Given the description of an element on the screen output the (x, y) to click on. 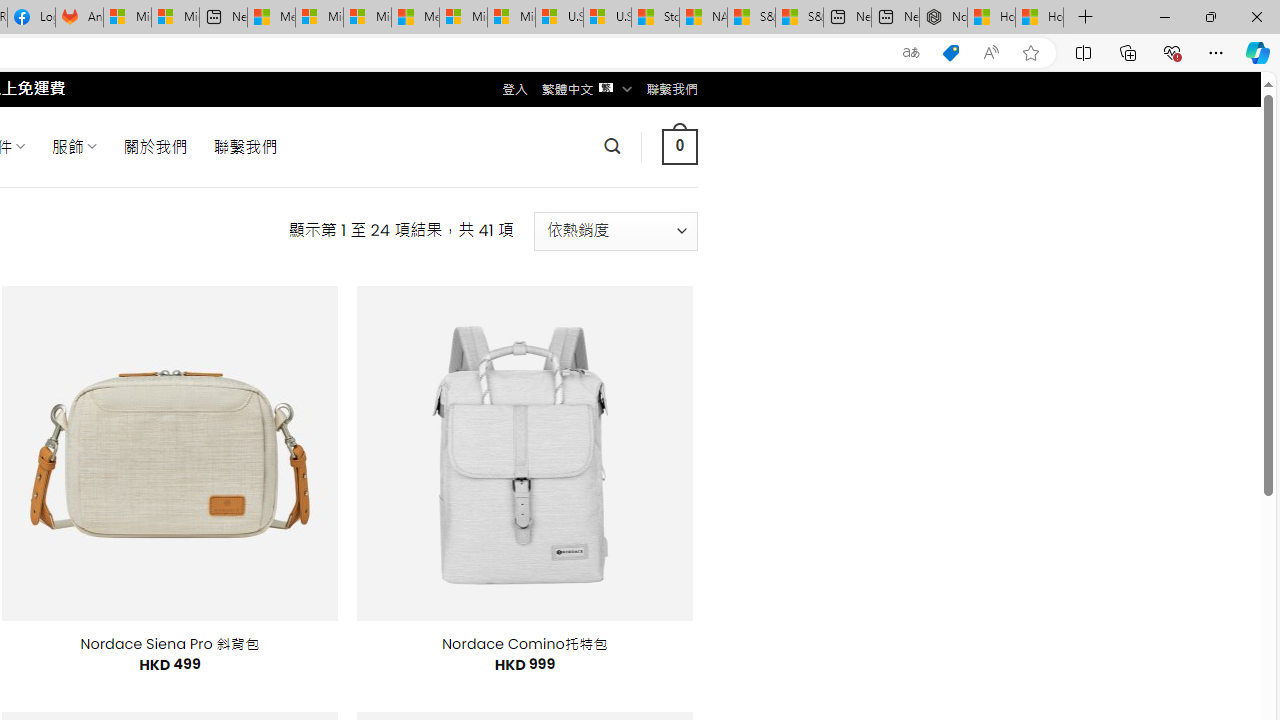
Show translate options (910, 53)
